Given the description of an element on the screen output the (x, y) to click on. 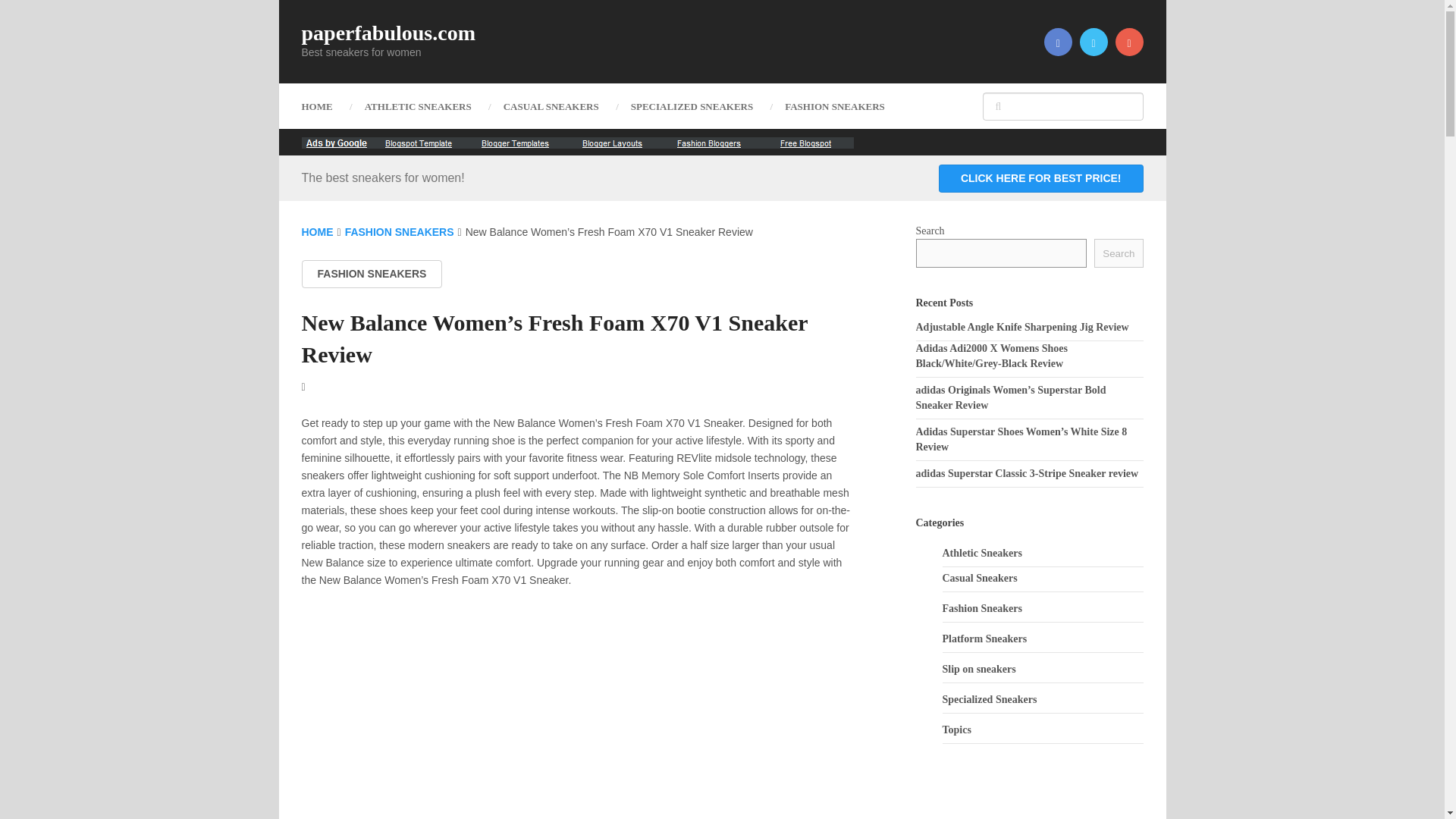
SPECIALIZED SNEAKERS (691, 105)
ATHLETIC SNEAKERS (418, 105)
FASHION SNEAKERS (399, 232)
FASHION SNEAKERS (834, 105)
Search (1118, 253)
HOME (317, 232)
HOME (325, 105)
Click here for best price! (1040, 177)
View all posts in Fashion Sneakers (371, 274)
CASUAL SNEAKERS (550, 105)
